Given the description of an element on the screen output the (x, y) to click on. 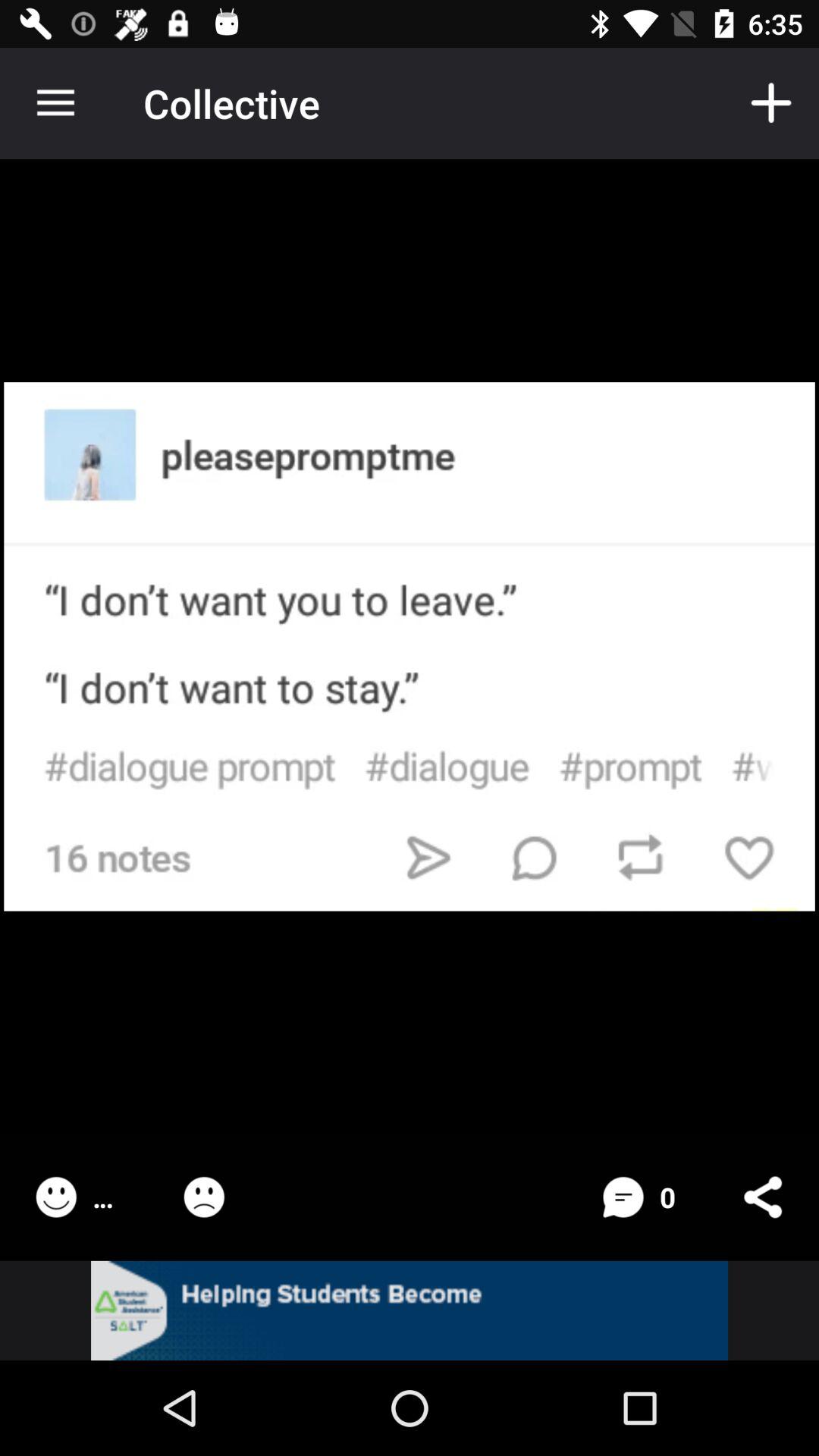
add the option (409, 1310)
